Given the description of an element on the screen output the (x, y) to click on. 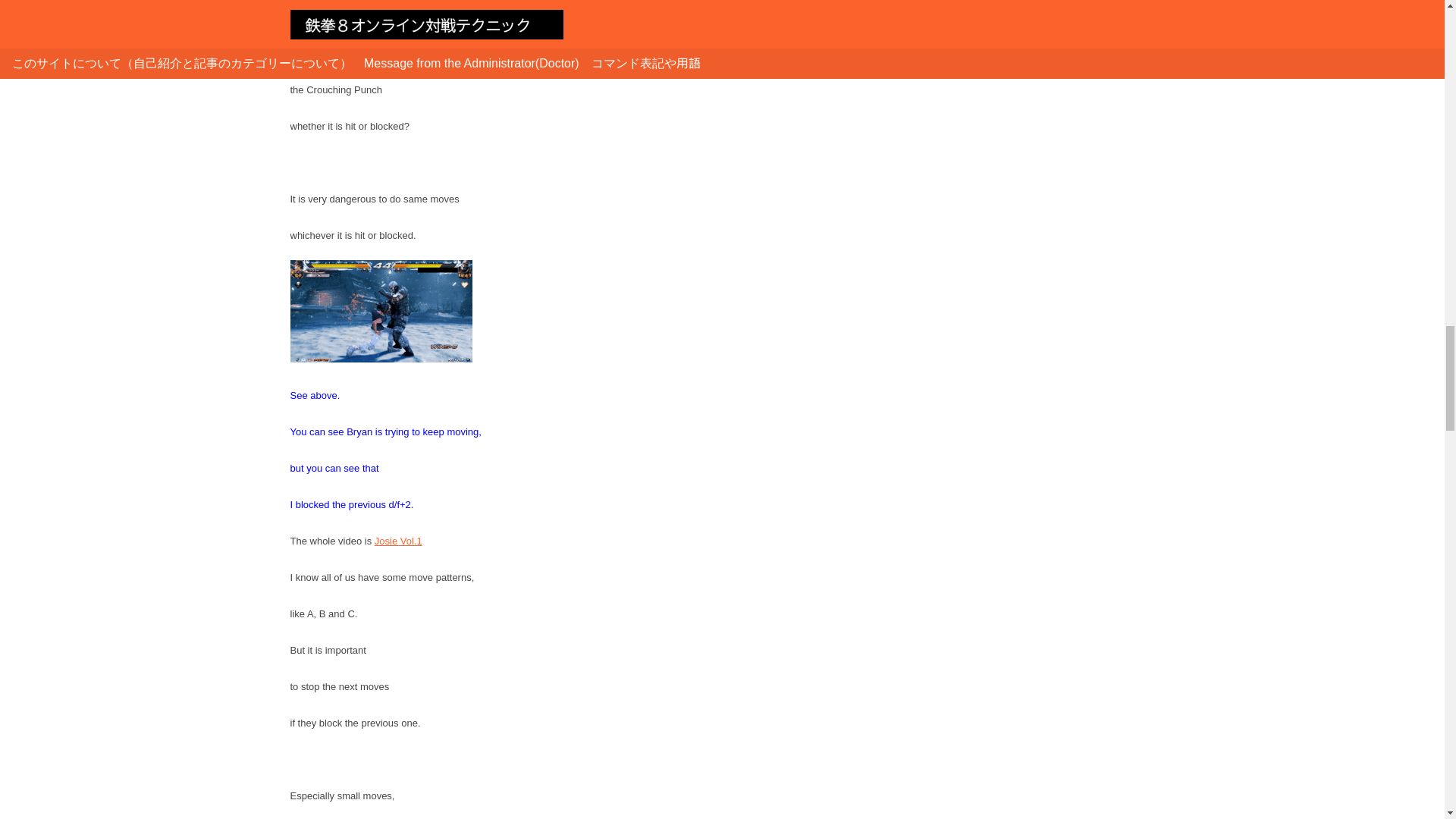
Josie Vol.1 (398, 541)
